Given the description of an element on the screen output the (x, y) to click on. 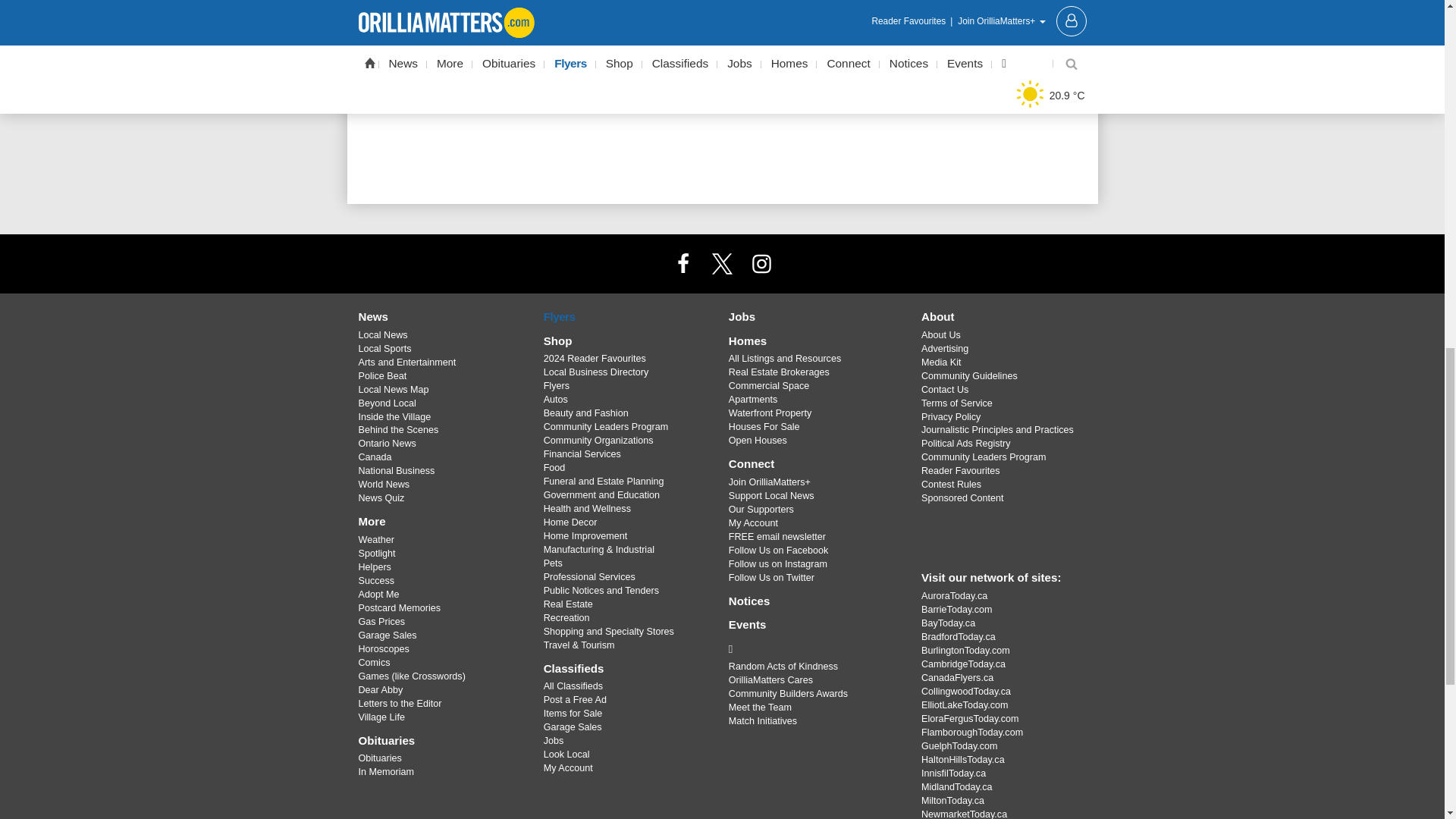
OrilliaMatters Cares (813, 648)
X (721, 262)
Facebook (683, 262)
Instagram (760, 262)
